Given the description of an element on the screen output the (x, y) to click on. 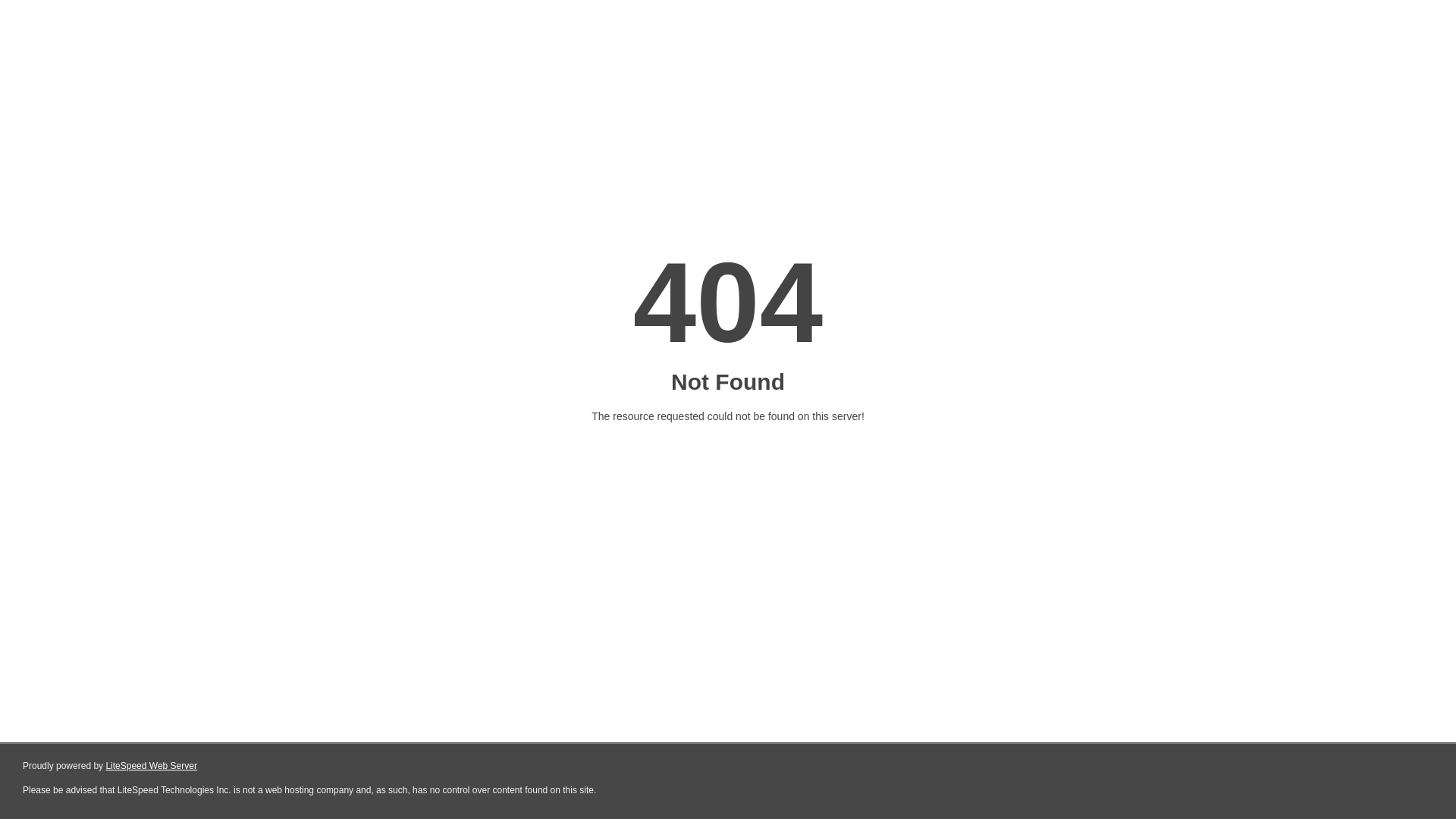
LiteSpeed Web Server Element type: text (151, 765)
